Given the description of an element on the screen output the (x, y) to click on. 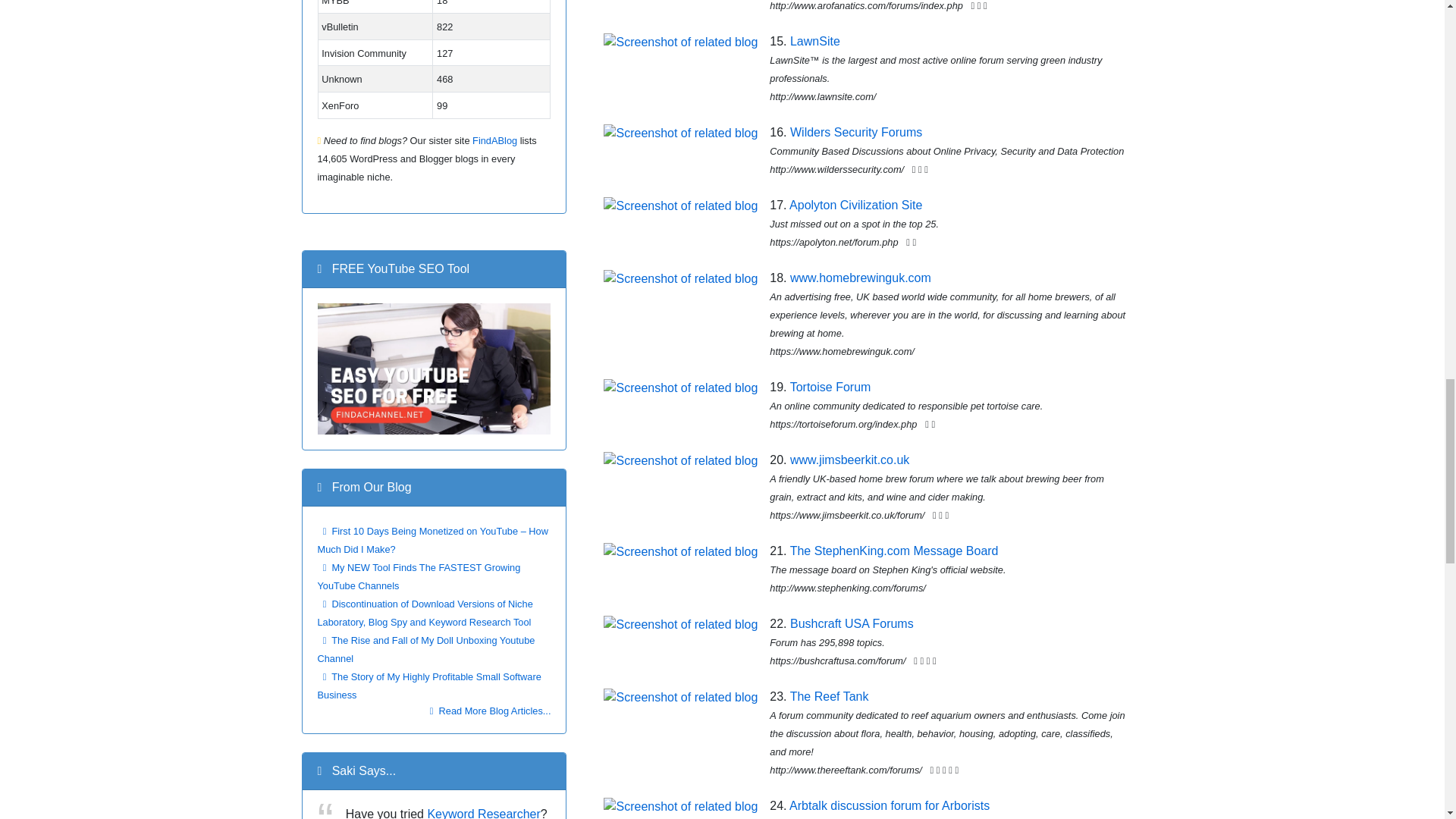
The Story of My Highly Profitable Small Software Business (428, 685)
The Rise and Fall of My Doll Unboxing Youtube Channel (425, 649)
My NEW Tool Finds The FASTEST Growing YouTube Channels (418, 576)
Read more articles on the Niche Laboratory Blog (490, 710)
